Given the description of an element on the screen output the (x, y) to click on. 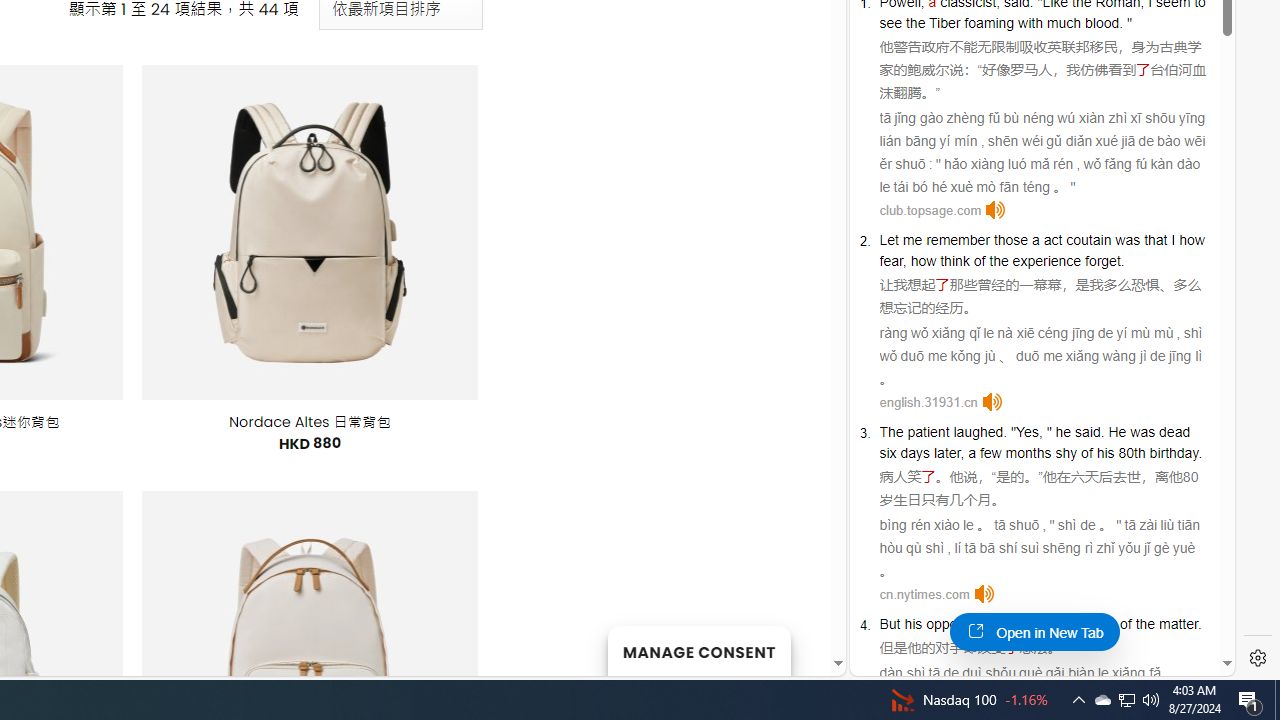
remember (957, 239)
